Given the description of an element on the screen output the (x, y) to click on. 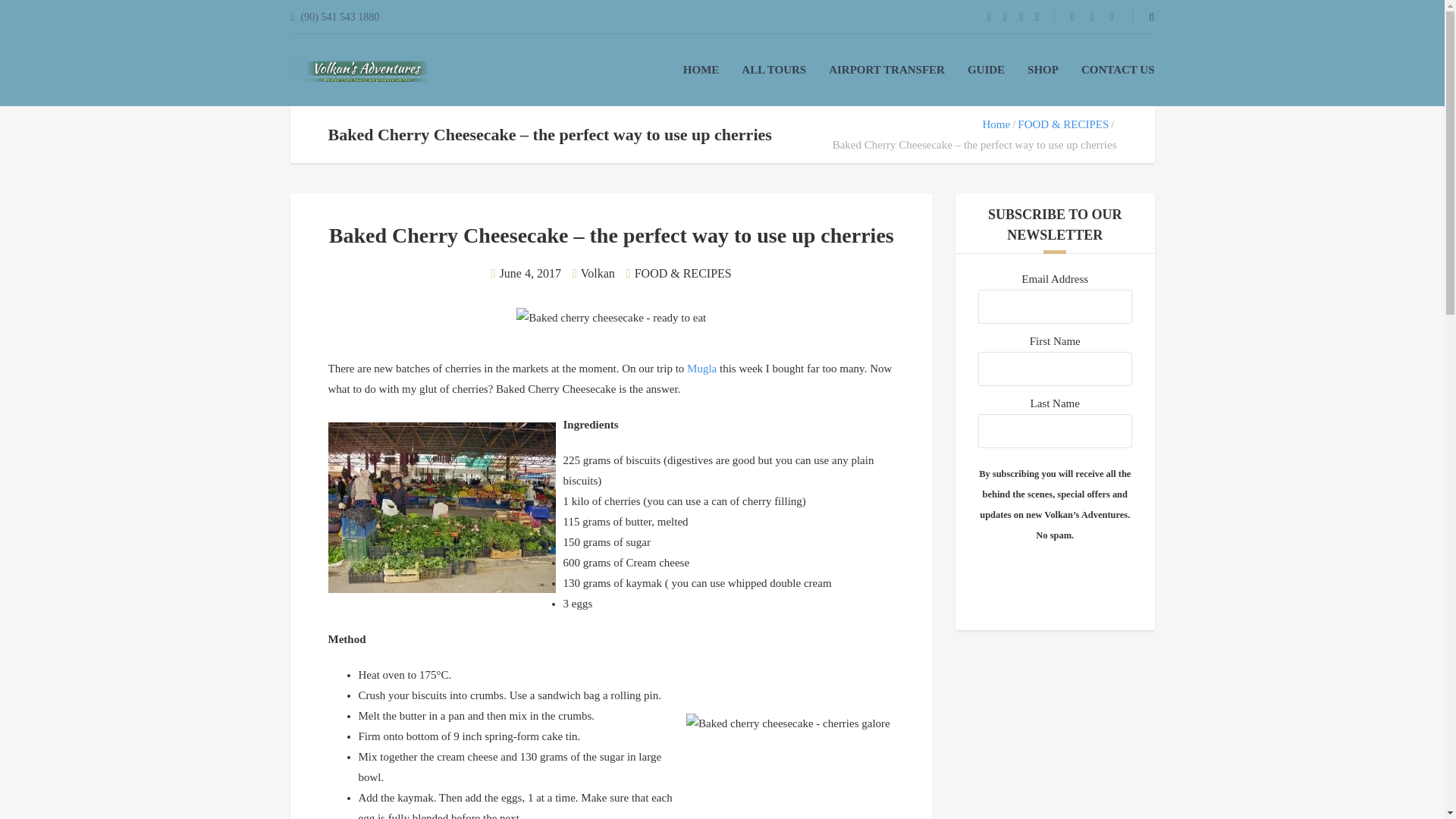
Volkan (597, 273)
SHOP (1042, 69)
ALL TOURS (773, 69)
June 4, 2017 (529, 273)
HOME (700, 69)
CONTACT US (1117, 69)
Subscribe (1054, 578)
GUIDE (986, 69)
Home (995, 123)
Mugla (701, 368)
